Given the description of an element on the screen output the (x, y) to click on. 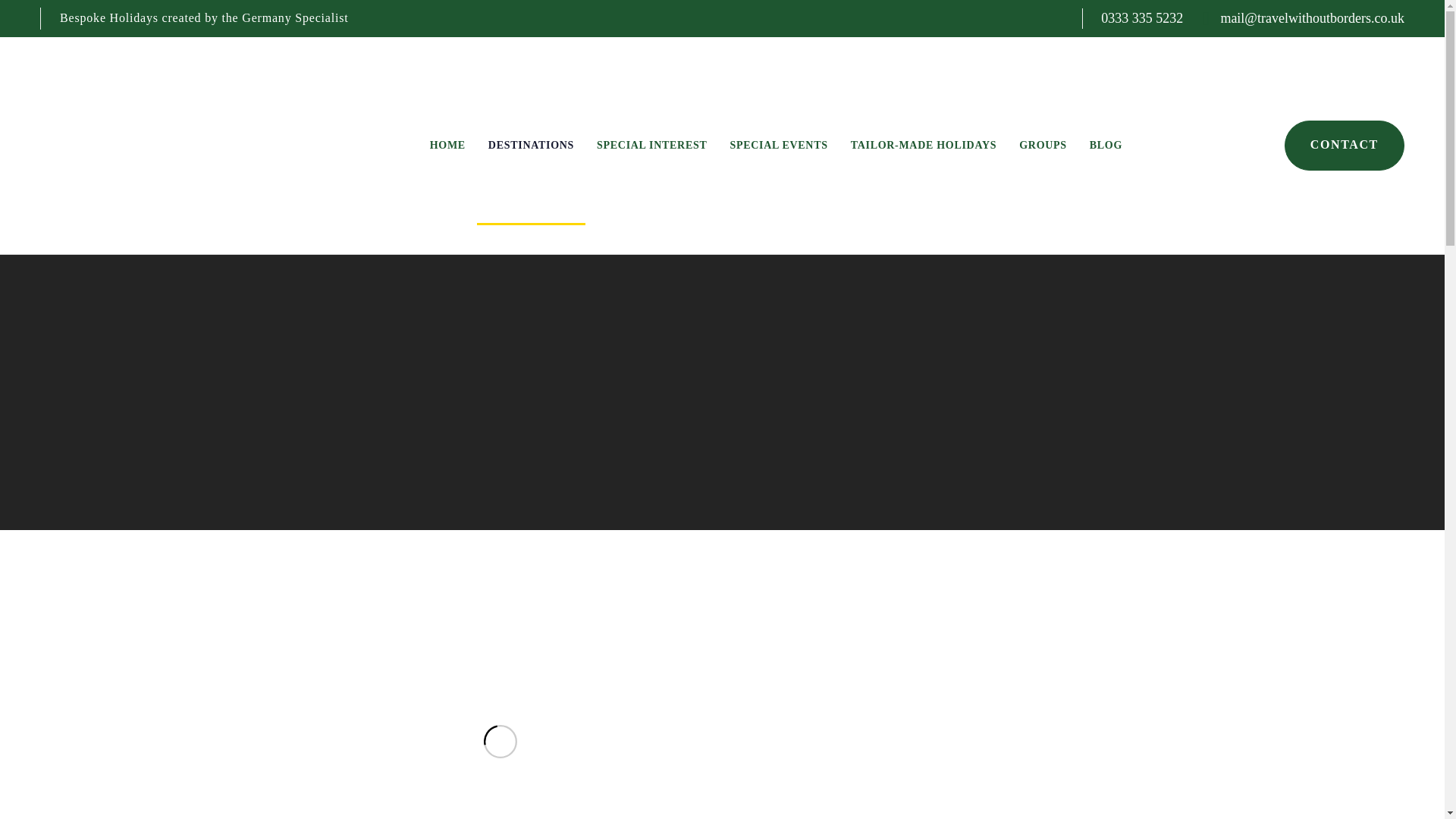
0333 335 5232 (1141, 17)
